Given the description of an element on the screen output the (x, y) to click on. 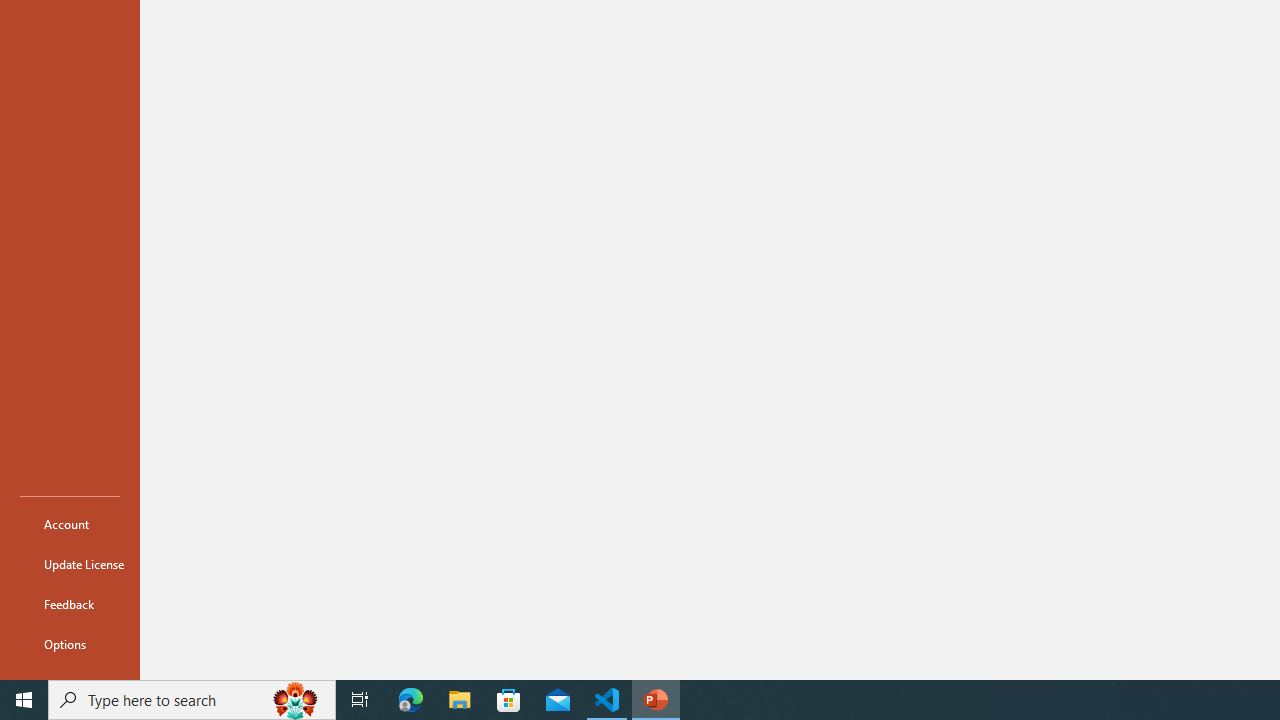
Feedback (69, 603)
Account (69, 523)
Options (69, 643)
Update License (69, 563)
